Given the description of an element on the screen output the (x, y) to click on. 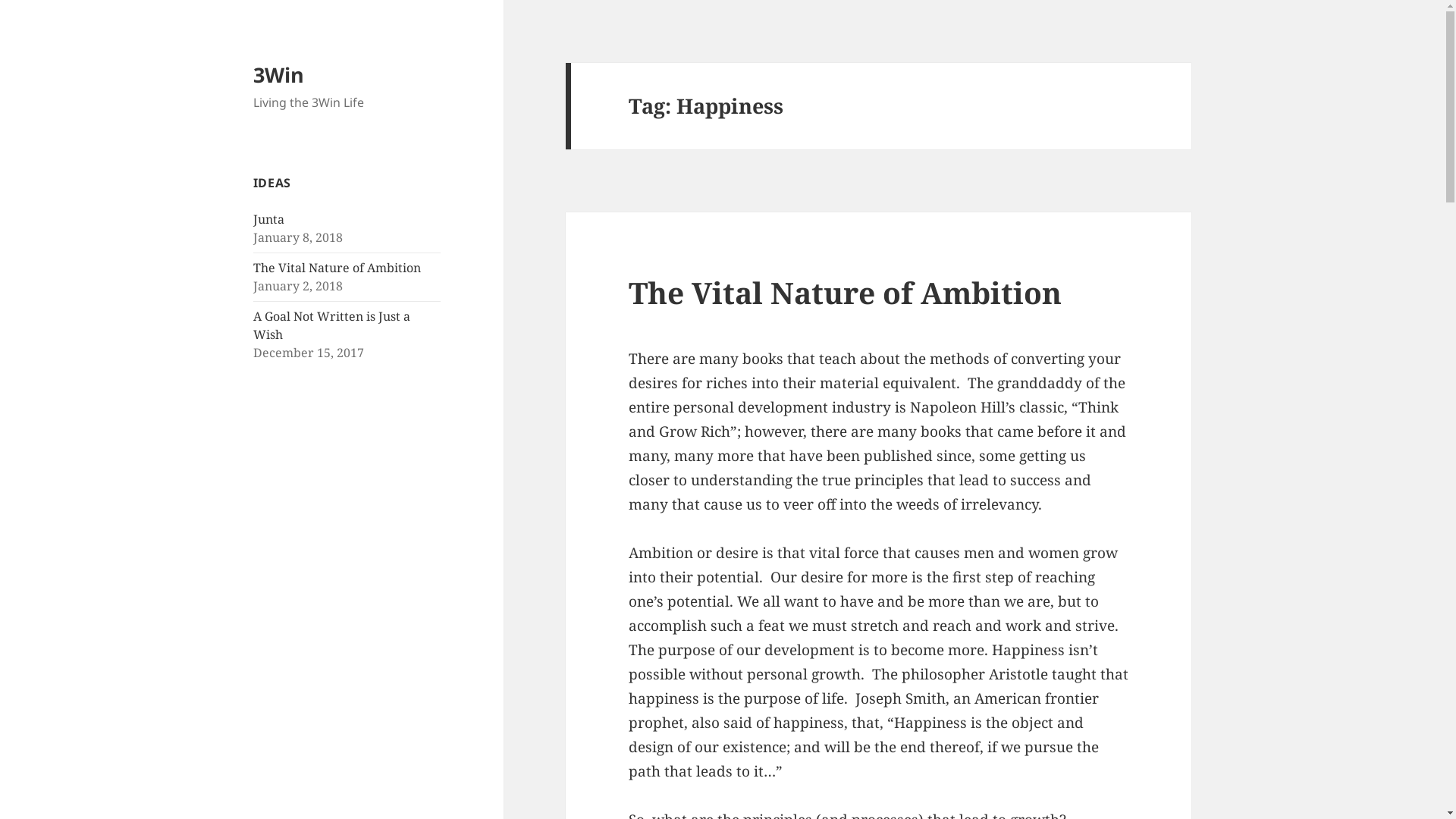
A Goal Not Written is Just a Wish Element type: text (331, 324)
The Vital Nature of Ambition Element type: text (336, 267)
3Win Element type: text (278, 74)
Junta Element type: text (268, 218)
The Vital Nature of Ambition Element type: text (844, 292)
